Given the description of an element on the screen output the (x, y) to click on. 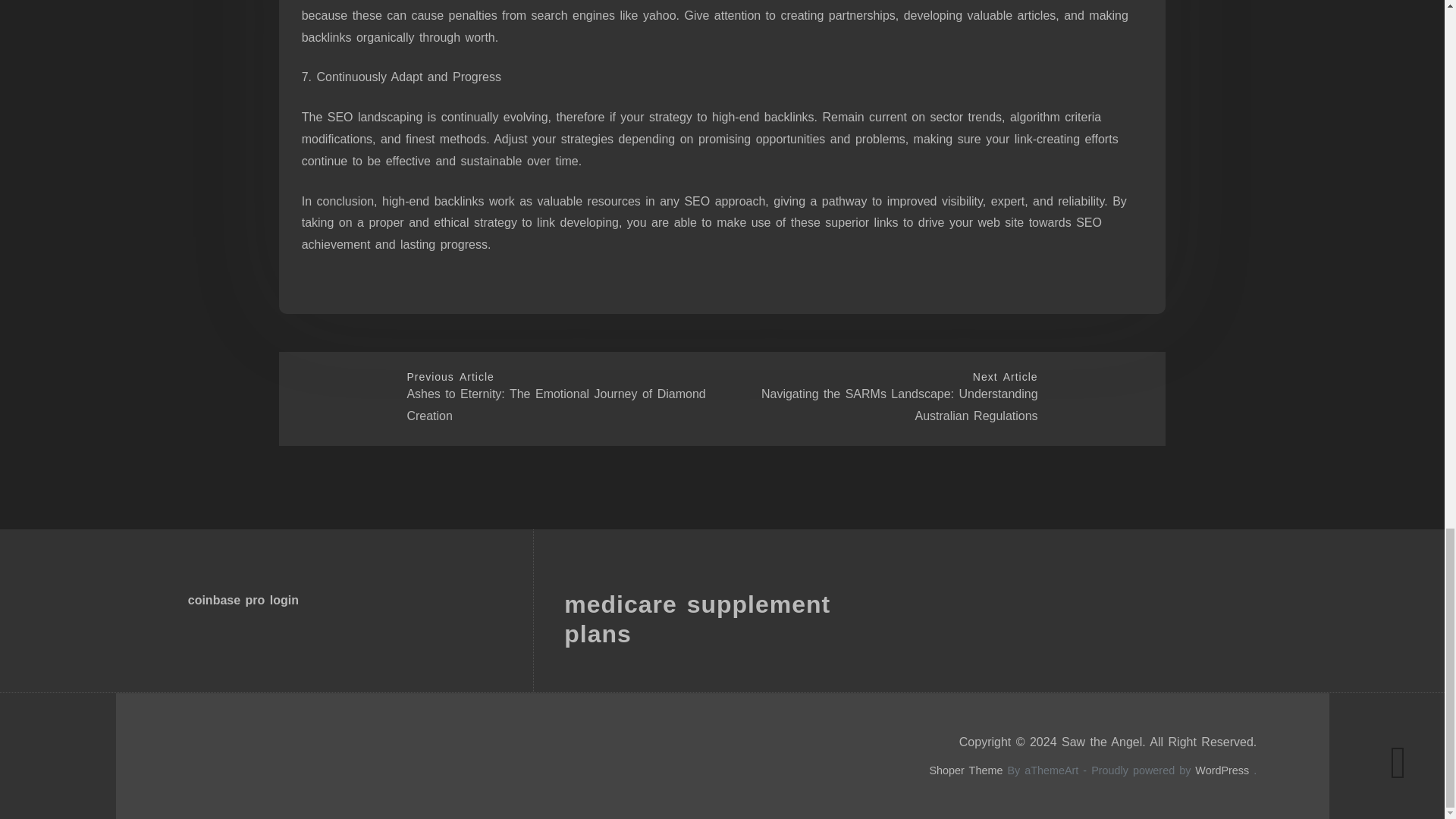
Shoper Theme (965, 770)
WordPress (1222, 770)
coinbase pro login (242, 599)
Ashes to Eternity: The Emotional Journey of Diamond Creation (555, 404)
medicare supplement plans (696, 618)
